Given the description of an element on the screen output the (x, y) to click on. 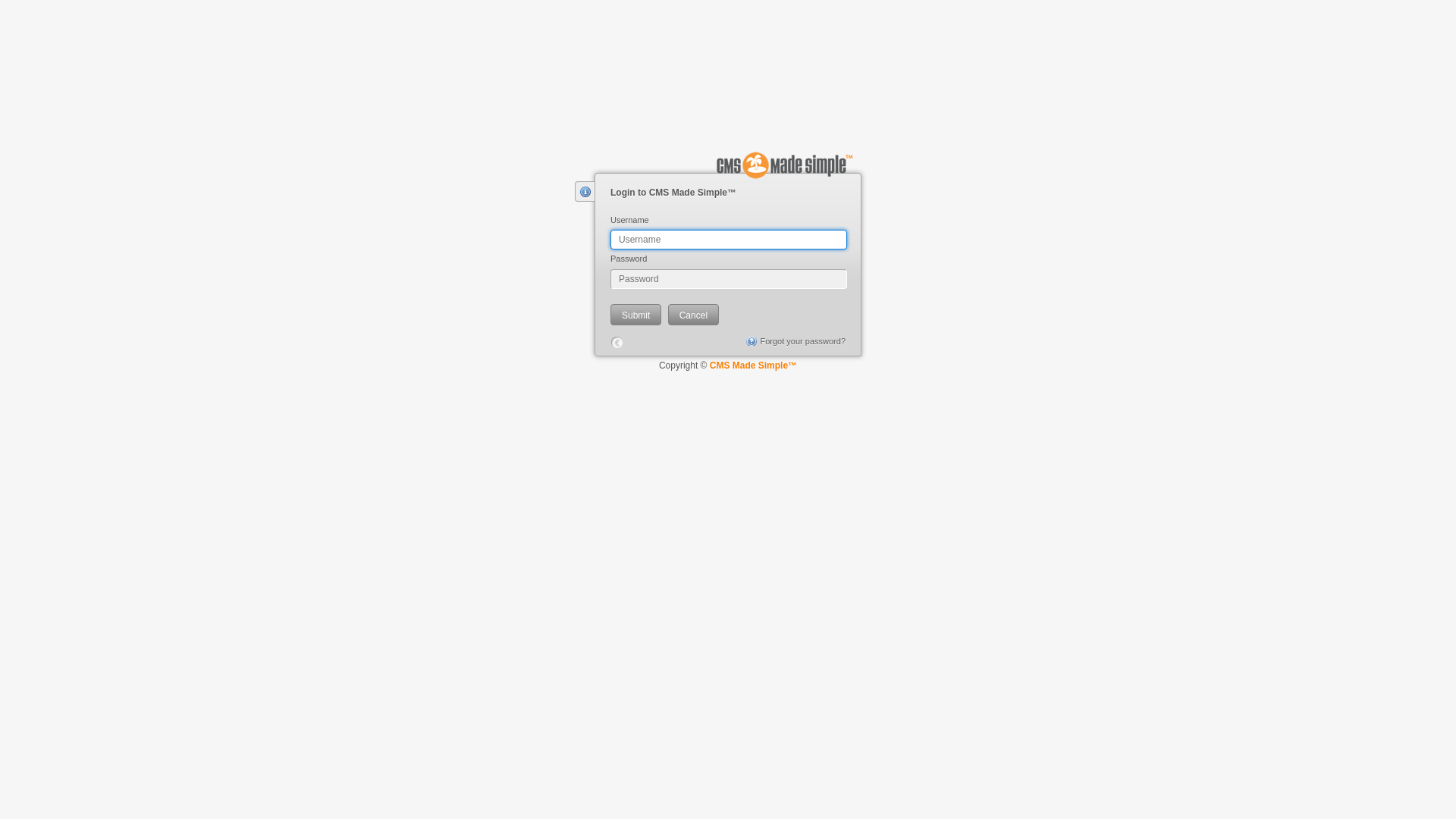
Cancel Element type: text (693, 314)
Submit Element type: text (635, 314)
Forgot your password? Element type: text (794, 340)
Open/Close Element type: text (584, 191)
